Given the description of an element on the screen output the (x, y) to click on. 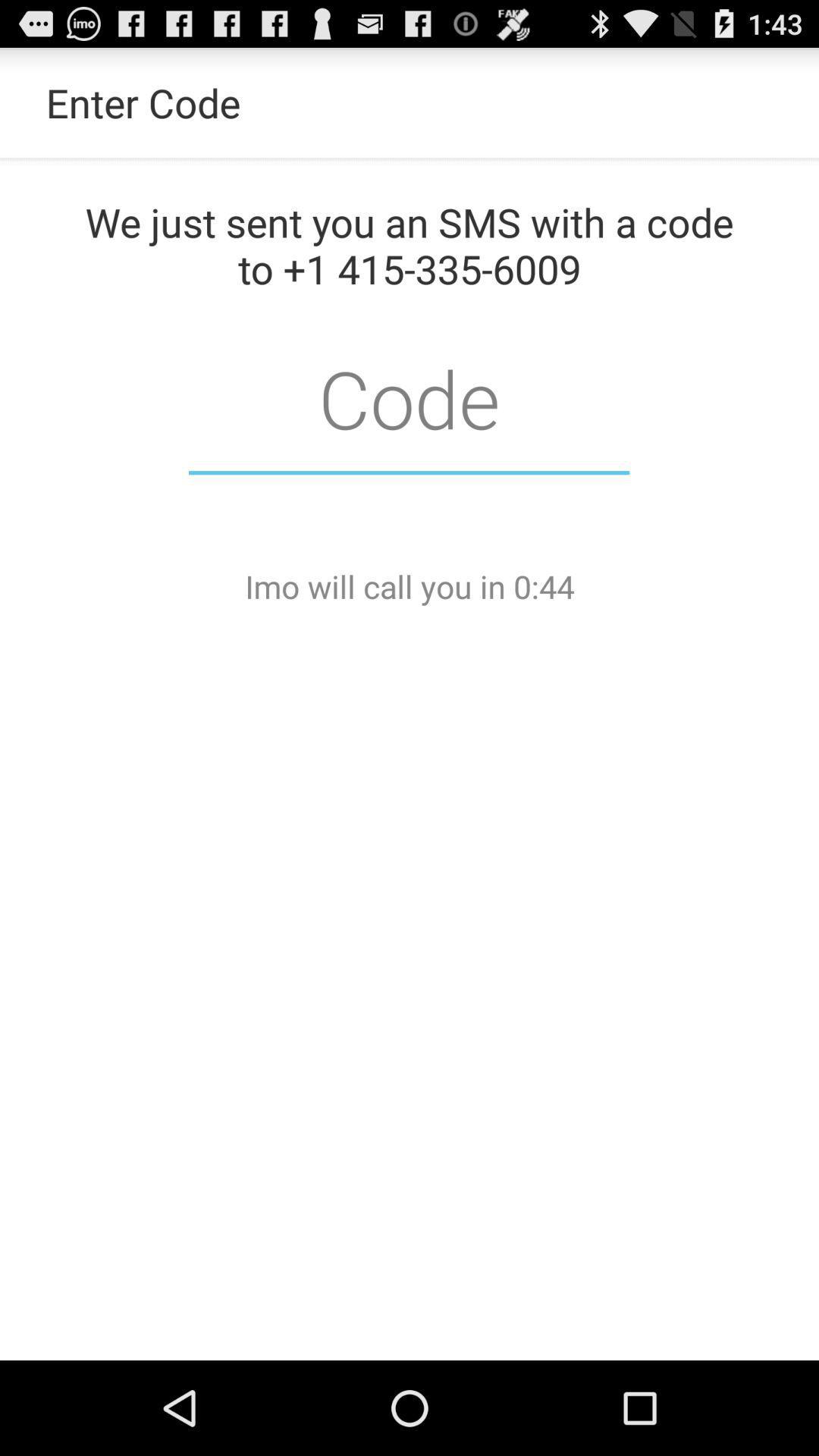
type code (408, 398)
